Given the description of an element on the screen output the (x, y) to click on. 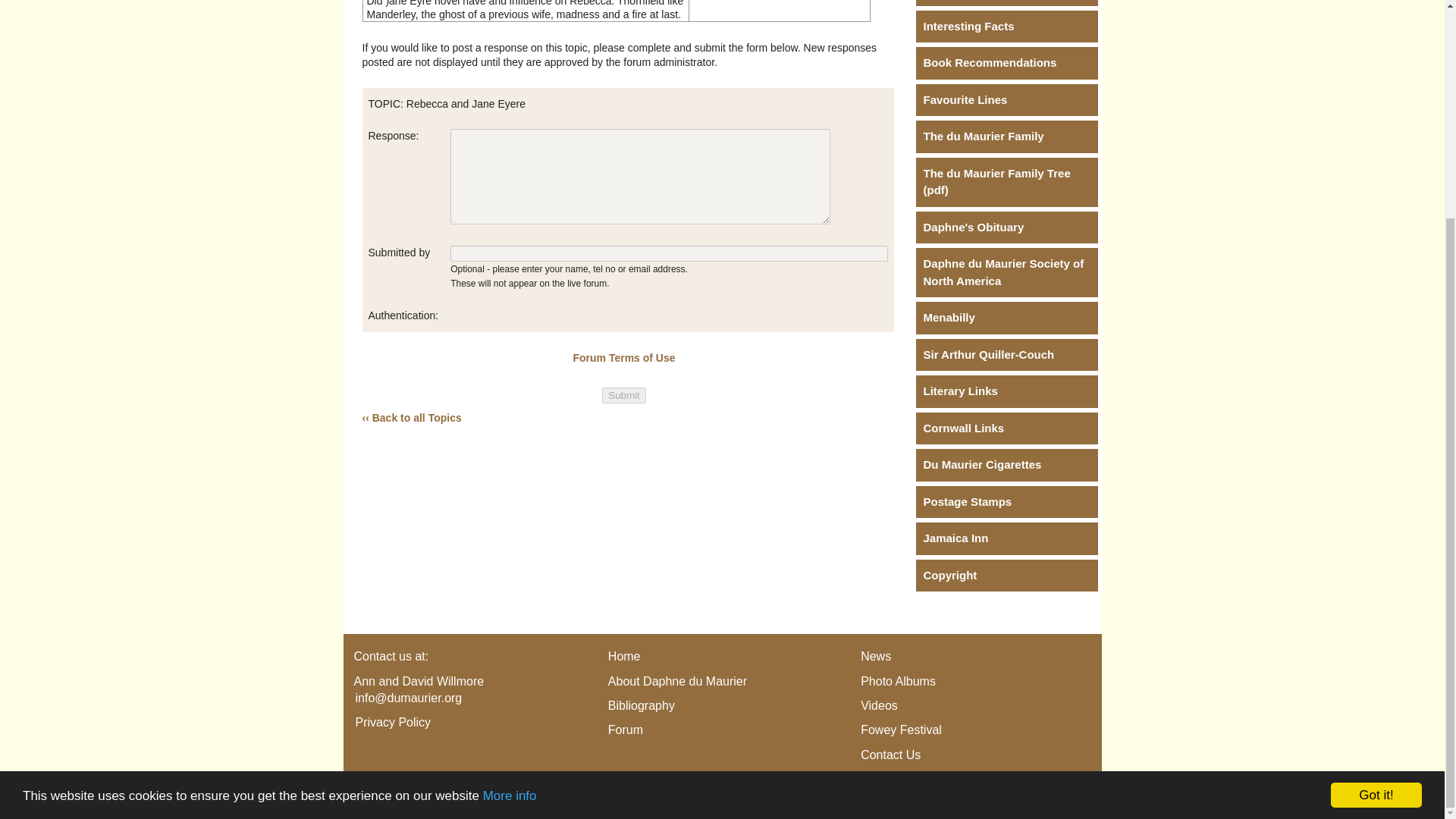
Favourite Lines (1006, 100)
Video and Films (1006, 2)
Literary Links (1006, 391)
The du Maurier Family (1006, 136)
Forum Terms of Use (623, 357)
Submit (623, 395)
Daphne du Maurier Society of North America (1006, 272)
Copyright (1006, 575)
Jamaica Inn (1006, 538)
Daphne's Obituary (1006, 227)
Privacy Policy (392, 722)
Du Maurier Cigarettes (1006, 464)
Menabilly (1006, 318)
Book Recommendations (1006, 62)
Submit (623, 395)
